Given the description of an element on the screen output the (x, y) to click on. 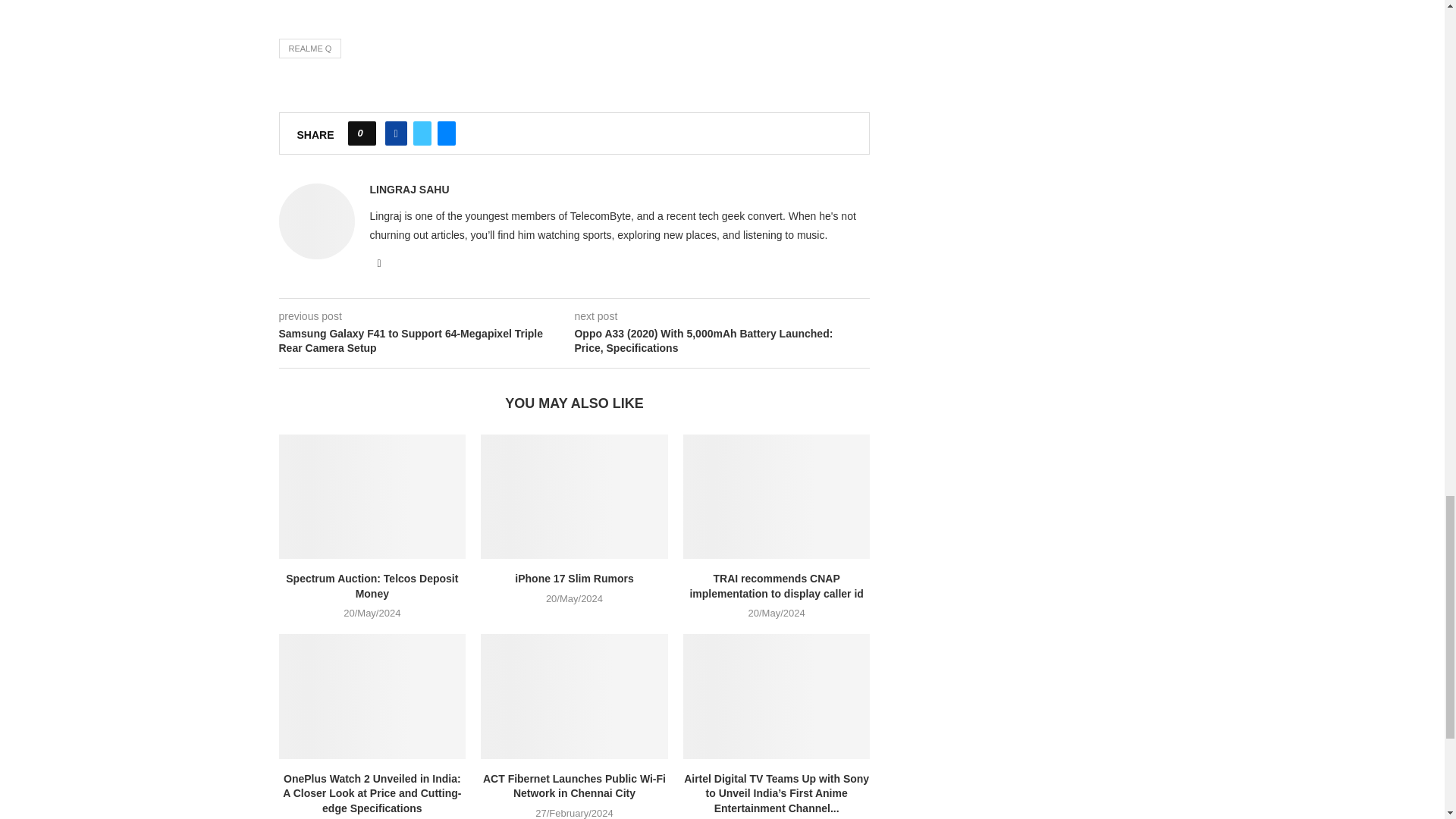
Author Lingraj Sahu (409, 189)
iPhone 17 Slim Rumors (574, 496)
TRAI recommends CNAP implementation to display caller id (776, 496)
Spectrum Auction: Telcos Deposit Money (372, 496)
ACT Fibernet Launches Public Wi-Fi Network in Chennai City (574, 695)
